Given the description of an element on the screen output the (x, y) to click on. 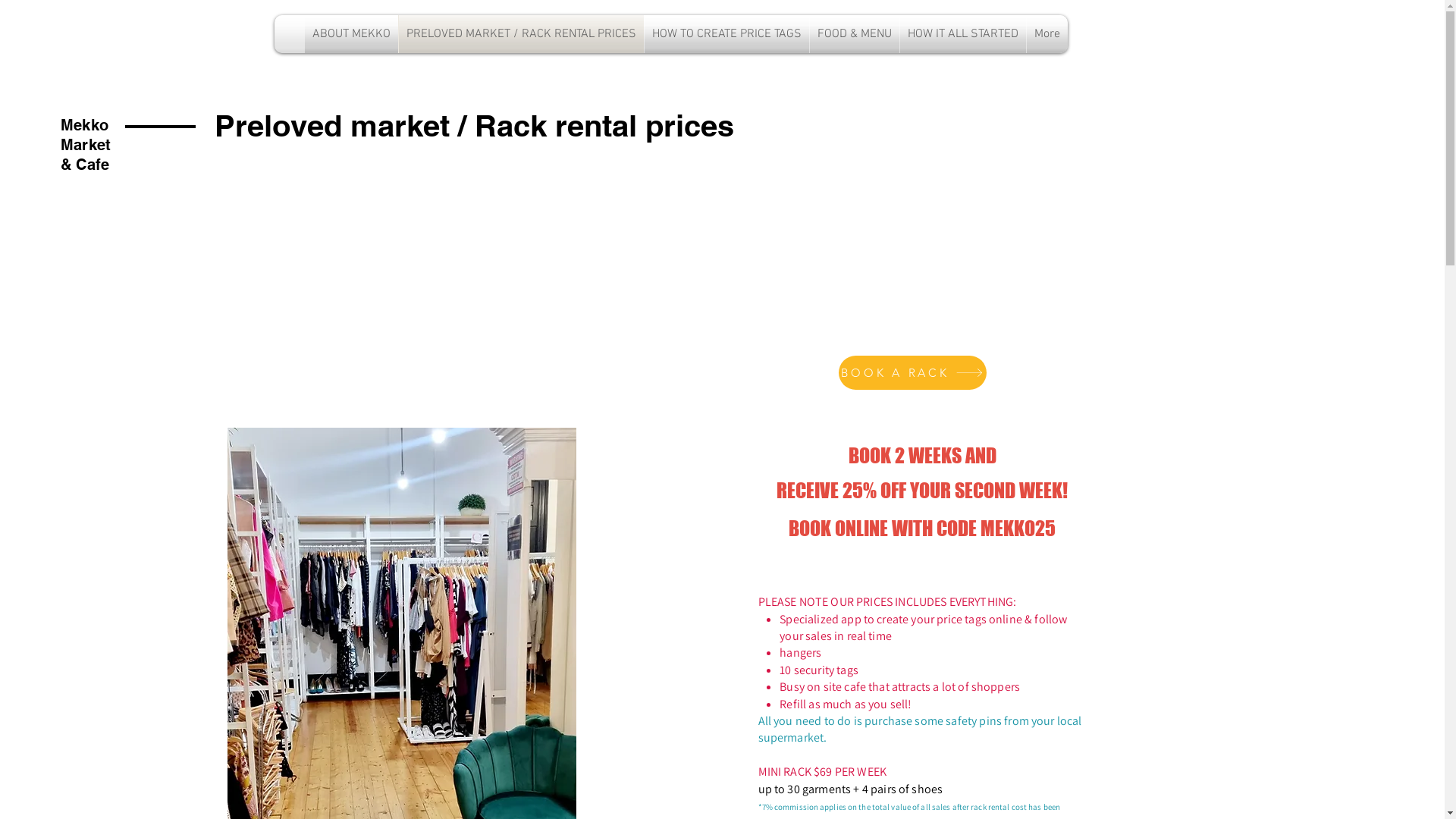
BOOK A RACK Element type: text (912, 372)
HOW TO CREATE PRICE TAGS Element type: text (726, 34)
FOOD & MENU Element type: text (854, 34)
PRELOVED MARKET / RACK RENTAL PRICES Element type: text (520, 34)
ABOUT MEKKO Element type: text (351, 34)
HOW IT ALL STARTED Element type: text (962, 34)
